Given the description of an element on the screen output the (x, y) to click on. 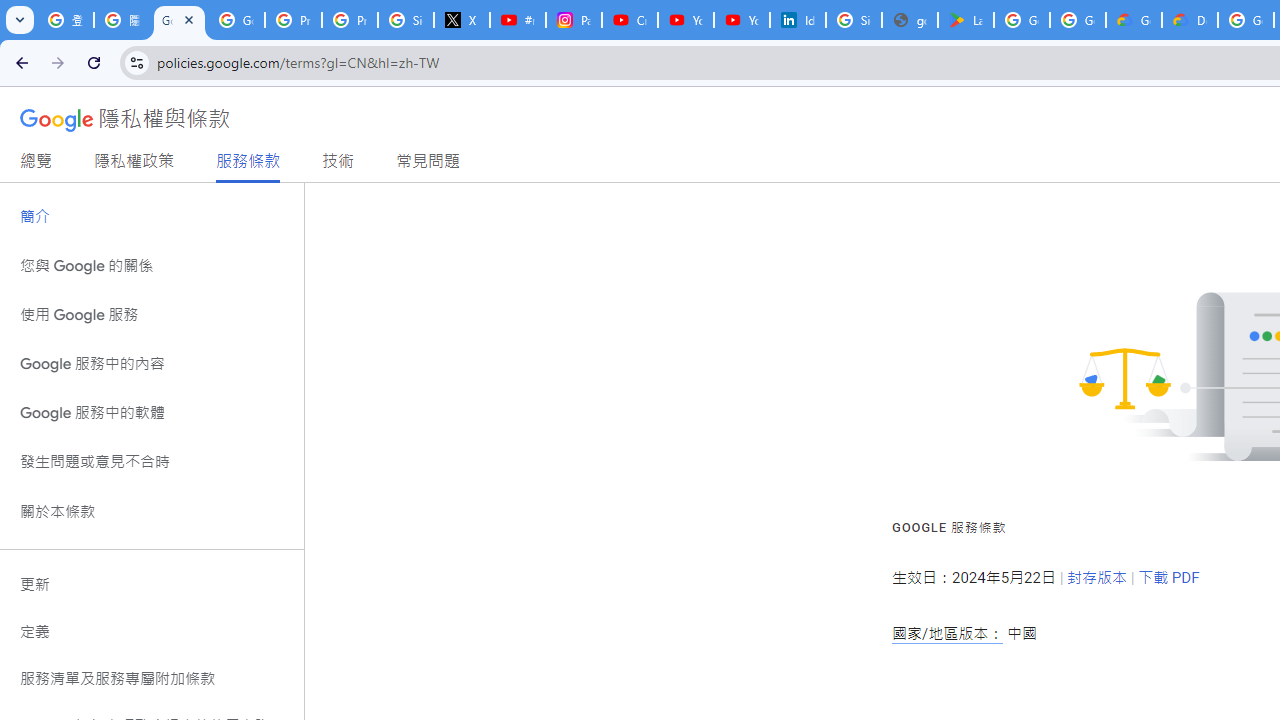
Privacy Help Center - Policies Help (349, 20)
